Given the description of an element on the screen output the (x, y) to click on. 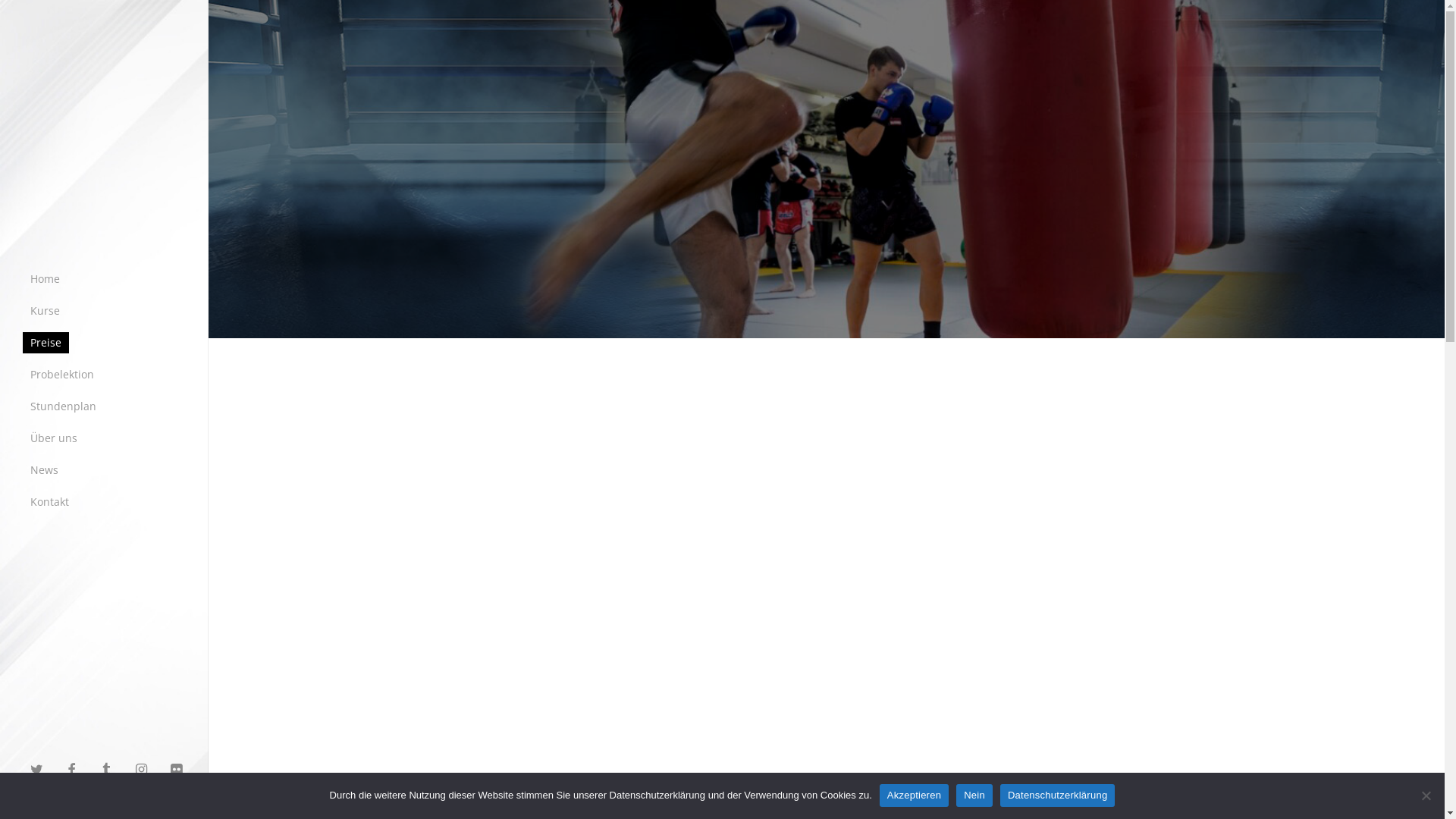
tumblr Element type: text (109, 768)
Preise Element type: text (45, 341)
Kurse Element type: text (44, 310)
facebook Element type: text (74, 768)
Nein Element type: hover (1425, 795)
Probelektion Element type: text (61, 373)
flickr Element type: text (179, 768)
twitter Element type: text (39, 768)
News Element type: text (43, 469)
Akzeptieren Element type: text (913, 795)
Kontakt Element type: text (49, 501)
instagram Element type: text (144, 768)
Home Element type: text (44, 278)
Stundenplan Element type: text (62, 405)
Nein Element type: text (974, 795)
